Given the description of an element on the screen output the (x, y) to click on. 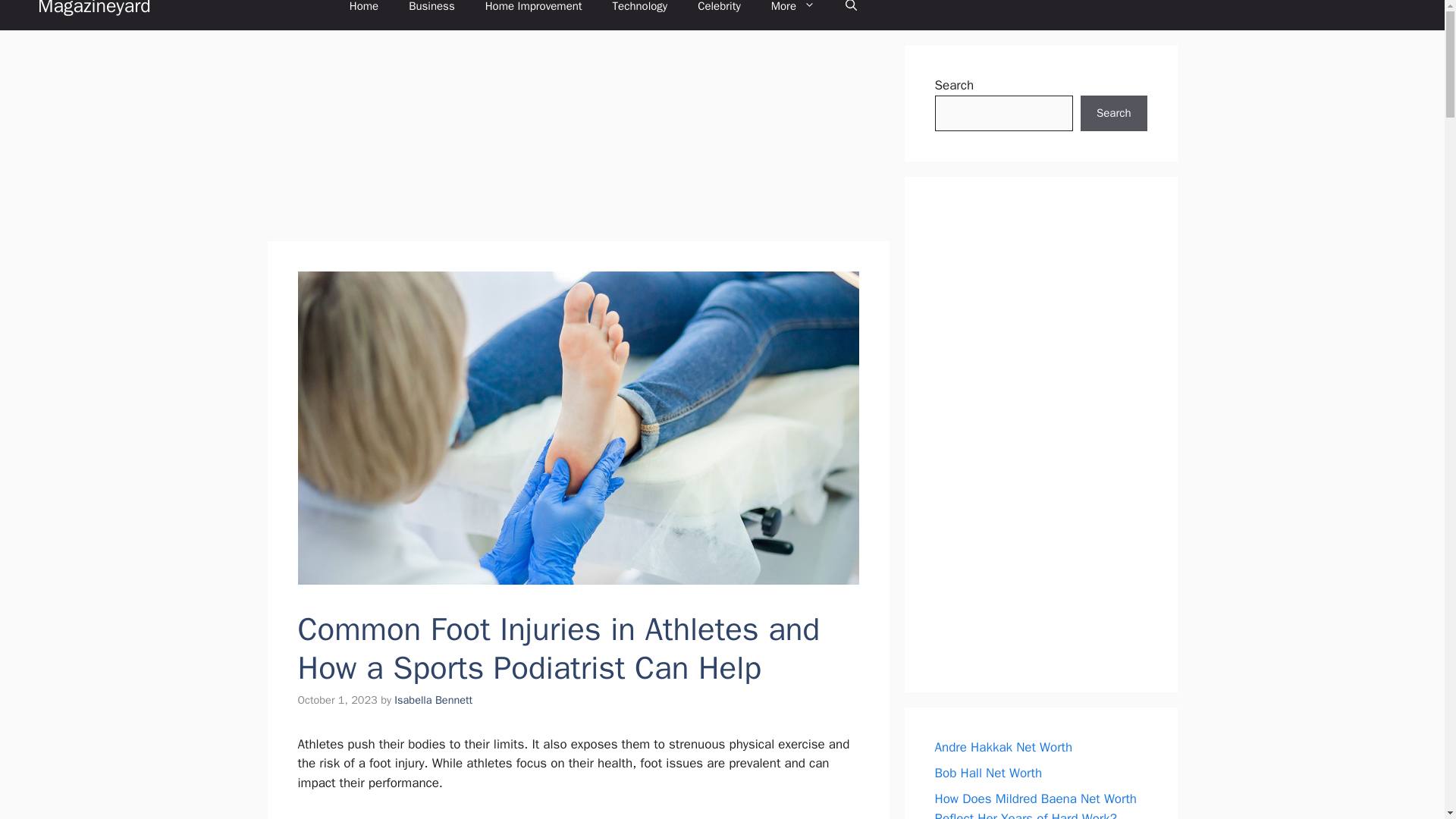
Technology (639, 14)
More (792, 14)
Search (1113, 113)
Magazineyard (94, 15)
Bob Hall Net Worth (988, 772)
Home Improvement (533, 14)
Home (363, 14)
Business (431, 14)
Andre Hakkak Net Worth (1002, 747)
View all posts by Isabella Bennett (432, 699)
